Given the description of an element on the screen output the (x, y) to click on. 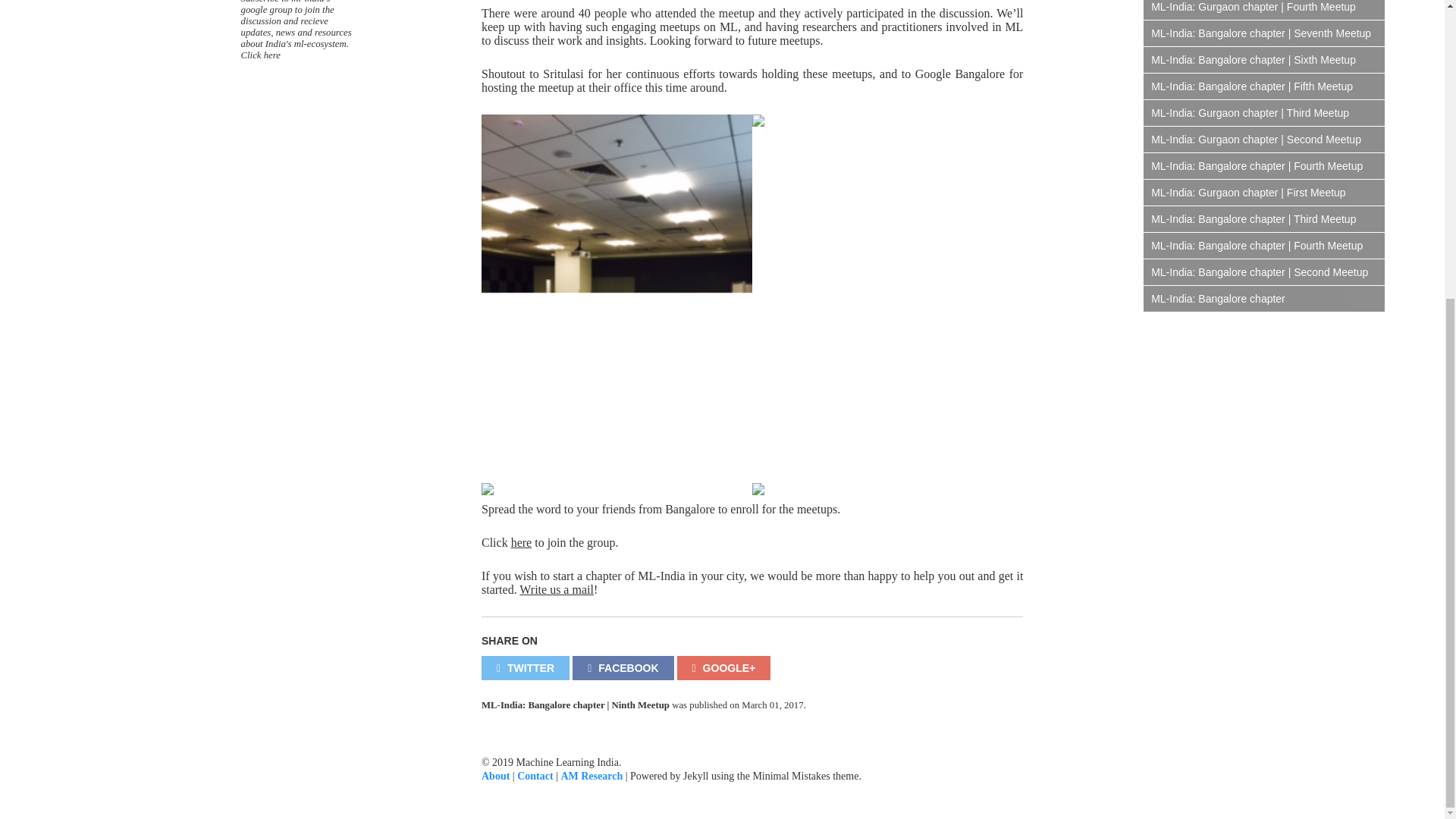
Share on Facebook (622, 668)
Share on Google Plus (724, 668)
Share on Twitter (525, 668)
google group (266, 9)
Click here (261, 54)
FACEBOOK (622, 668)
TWITTER (525, 668)
here (521, 542)
Write us a mail (556, 589)
